Given the description of an element on the screen output the (x, y) to click on. 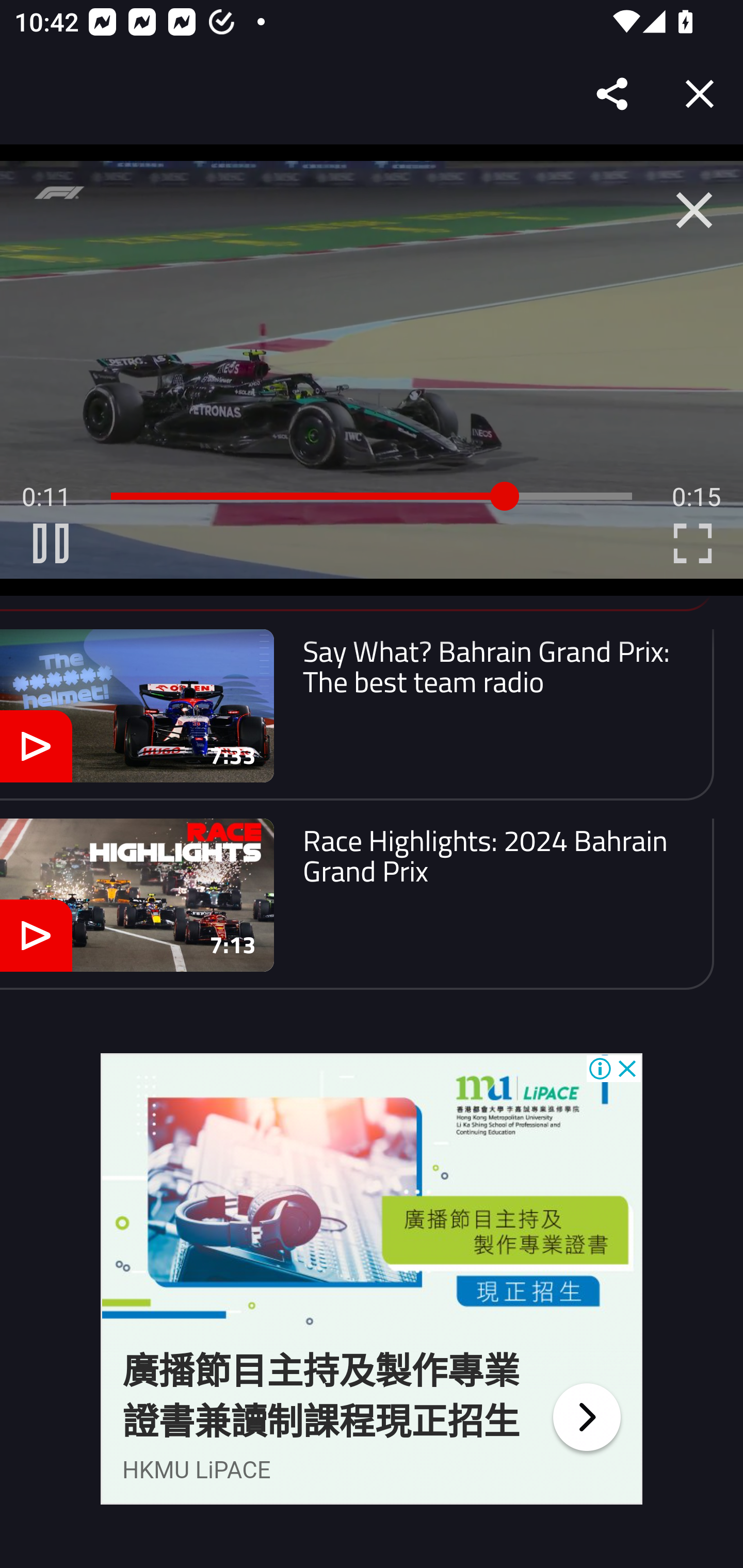
Share (612, 93)
Close (699, 93)
 Close (693, 210)
B Pause (50, 543)
C Enter Fullscreen (692, 543)
7:13 Race Highlights: 2024 Bahrain Grand Prix (357, 903)
%3Flce%3DGDN_B2023_01 (371, 1198)
廣播節目主持及製作專業 證書兼讀制課程現正招生 廣播節目主持及製作專業 證書兼讀制課程現正招生 (321, 1397)
%3Flce%3DGDN_B2023_01 (586, 1416)
HKMU LiPACE (196, 1469)
